Given the description of an element on the screen output the (x, y) to click on. 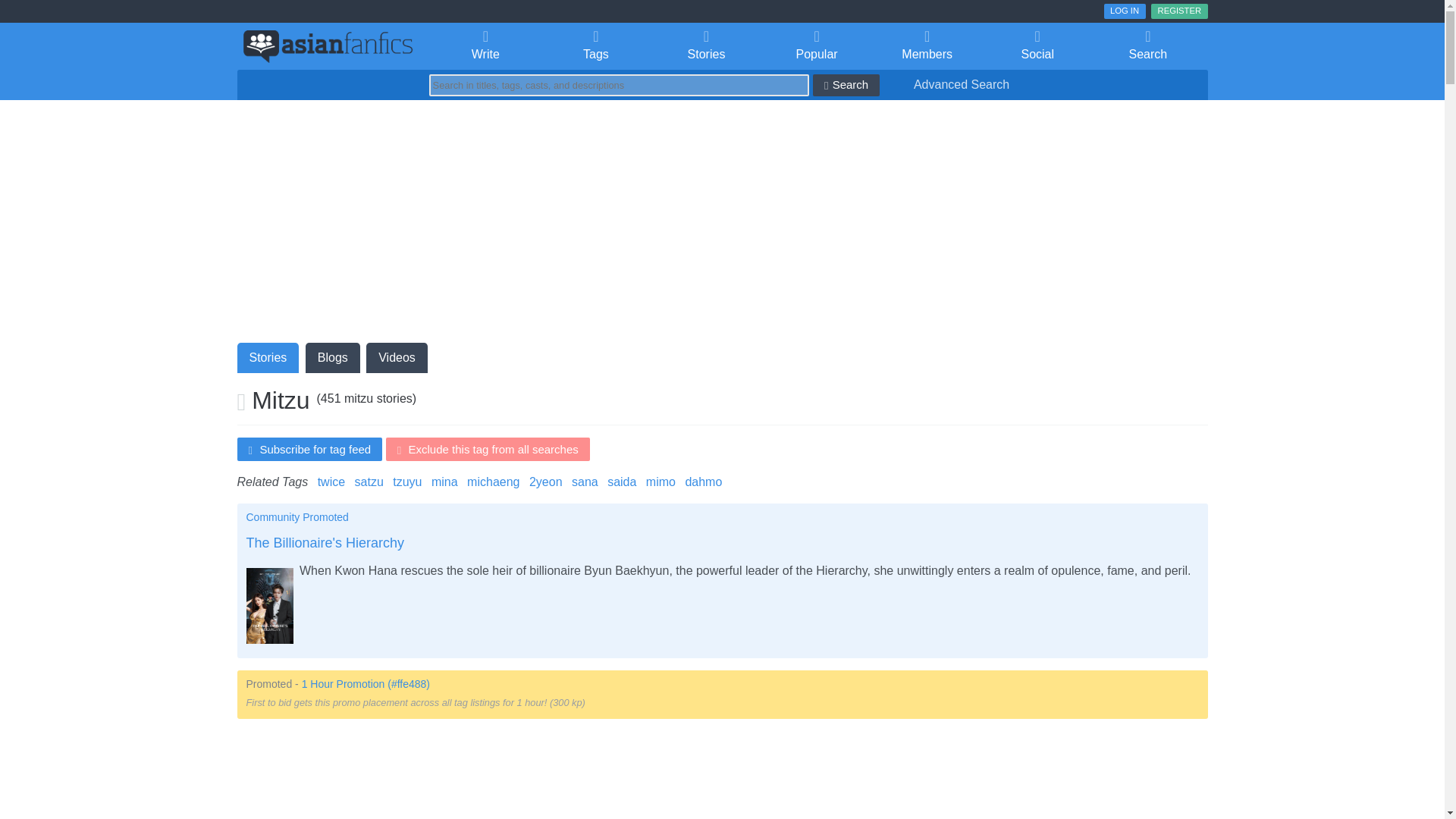
LOG IN (1124, 10)
Write (485, 45)
REGISTER (1179, 10)
Tags (595, 45)
Stories (705, 45)
Members (927, 45)
Advertisement (721, 775)
Social (1037, 45)
Search (1148, 45)
Popular (816, 45)
